Given the description of an element on the screen output the (x, y) to click on. 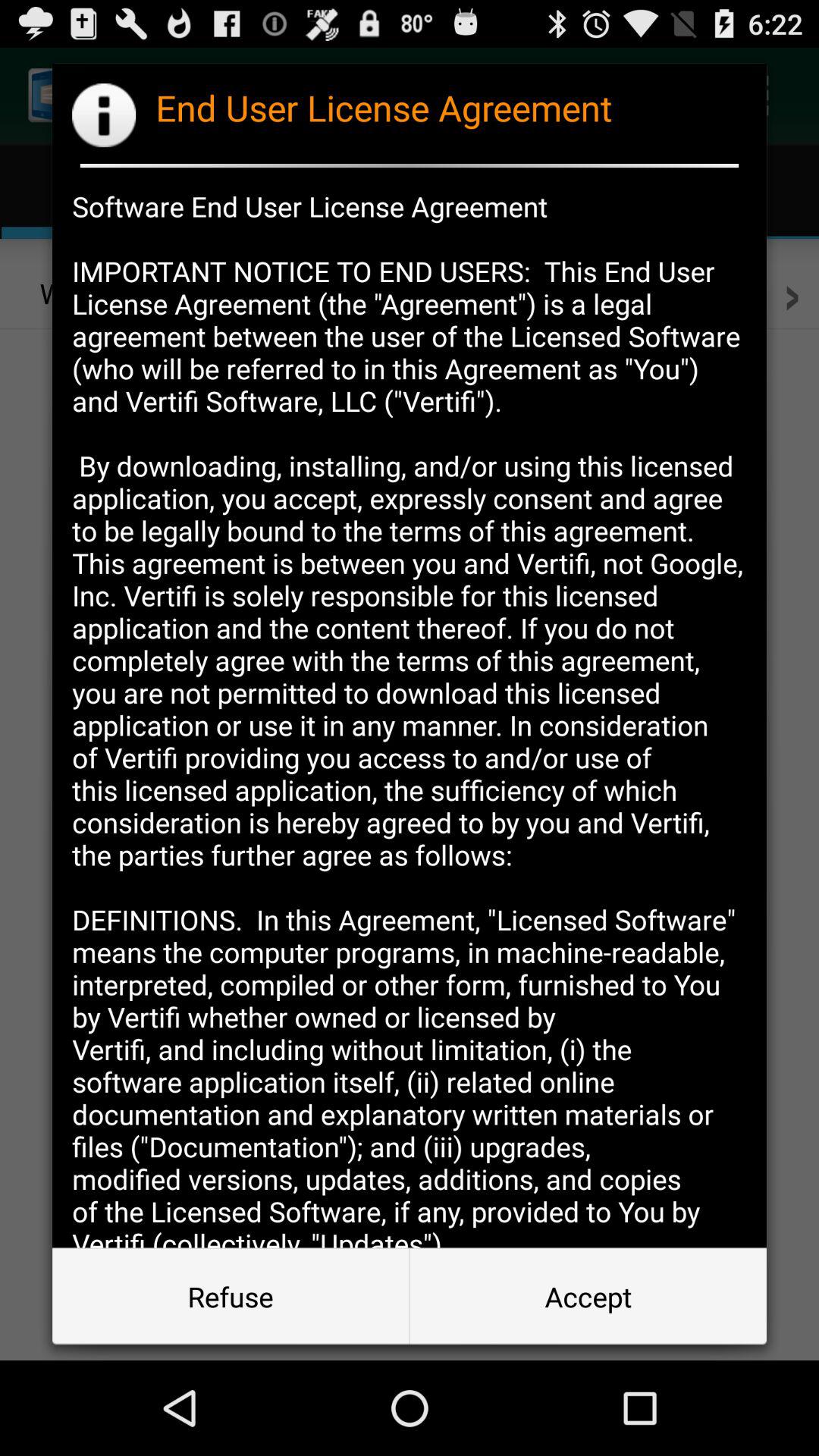
tap the refuse item (230, 1296)
